Given the description of an element on the screen output the (x, y) to click on. 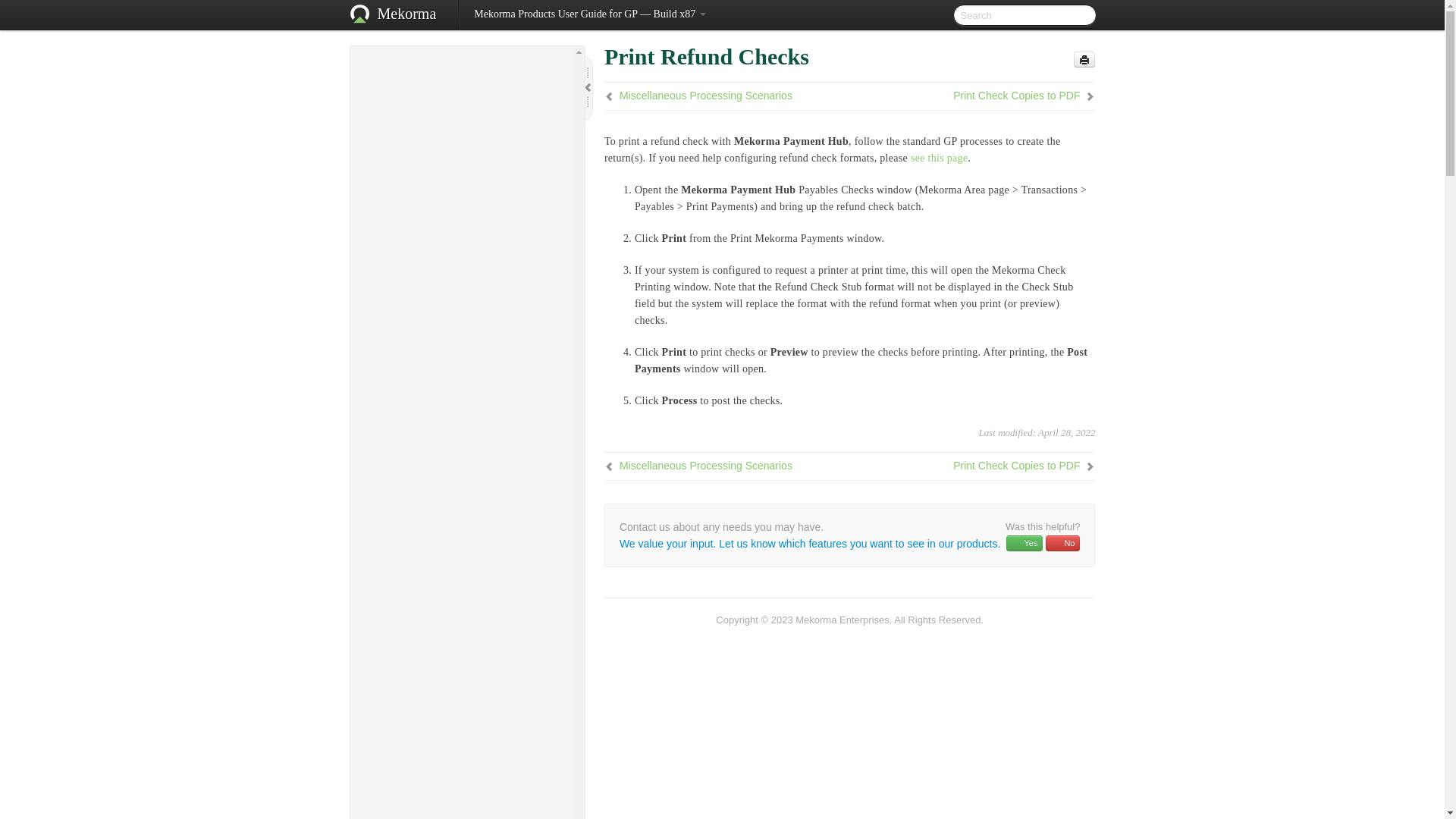
Release Notes for Mekorma Build x87 (460, 80)
Mekorma (406, 15)
Print page (1084, 59)
Issues Fixed (467, 116)
